Given the description of an element on the screen output the (x, y) to click on. 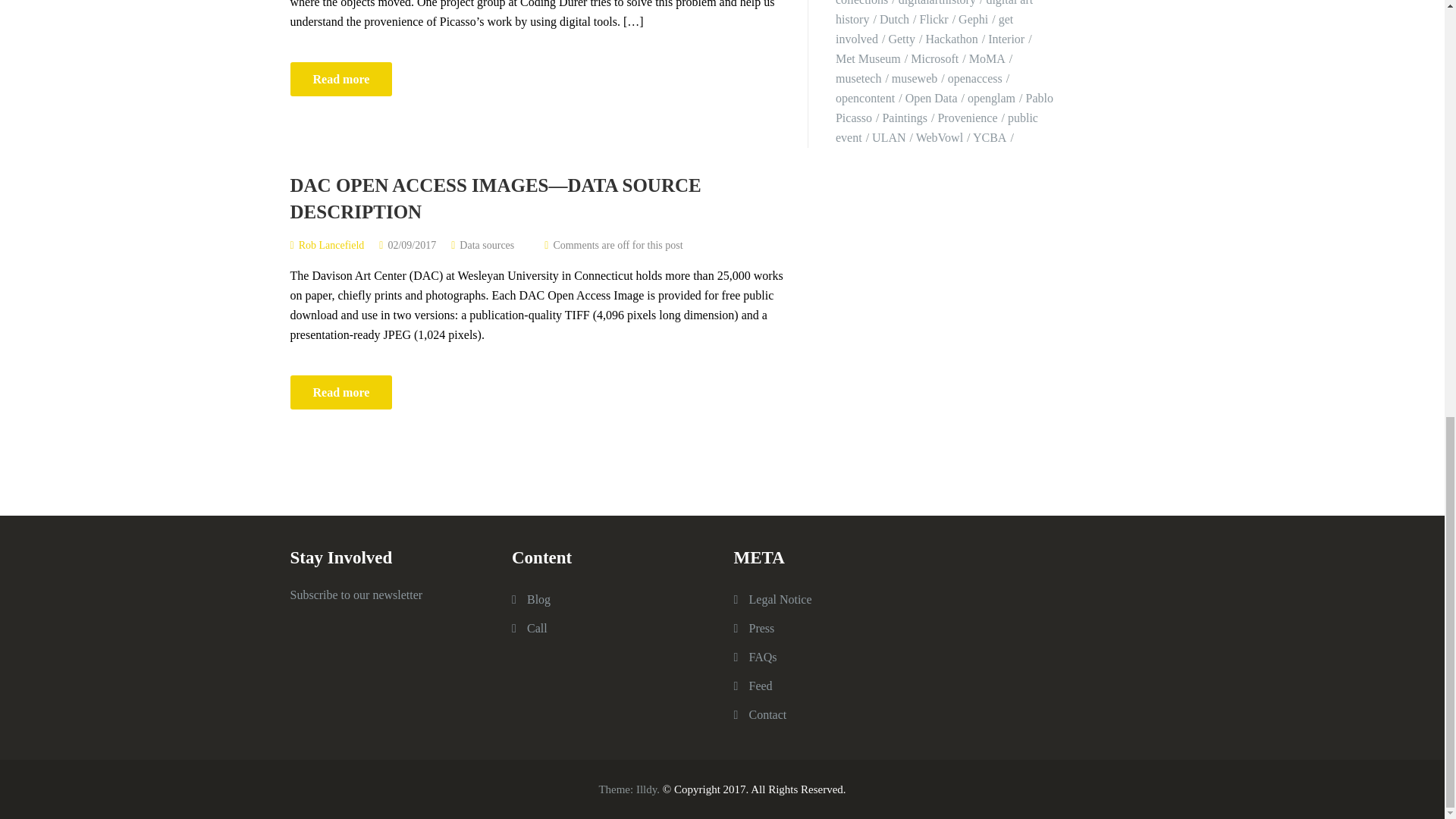
Read more (340, 392)
digital art collections (919, 2)
Read more (340, 392)
Illdy (646, 788)
Blog (538, 599)
Read more (340, 79)
Call (537, 627)
digital art history (933, 12)
Imprint (780, 599)
Data sources (486, 244)
